Given the description of an element on the screen output the (x, y) to click on. 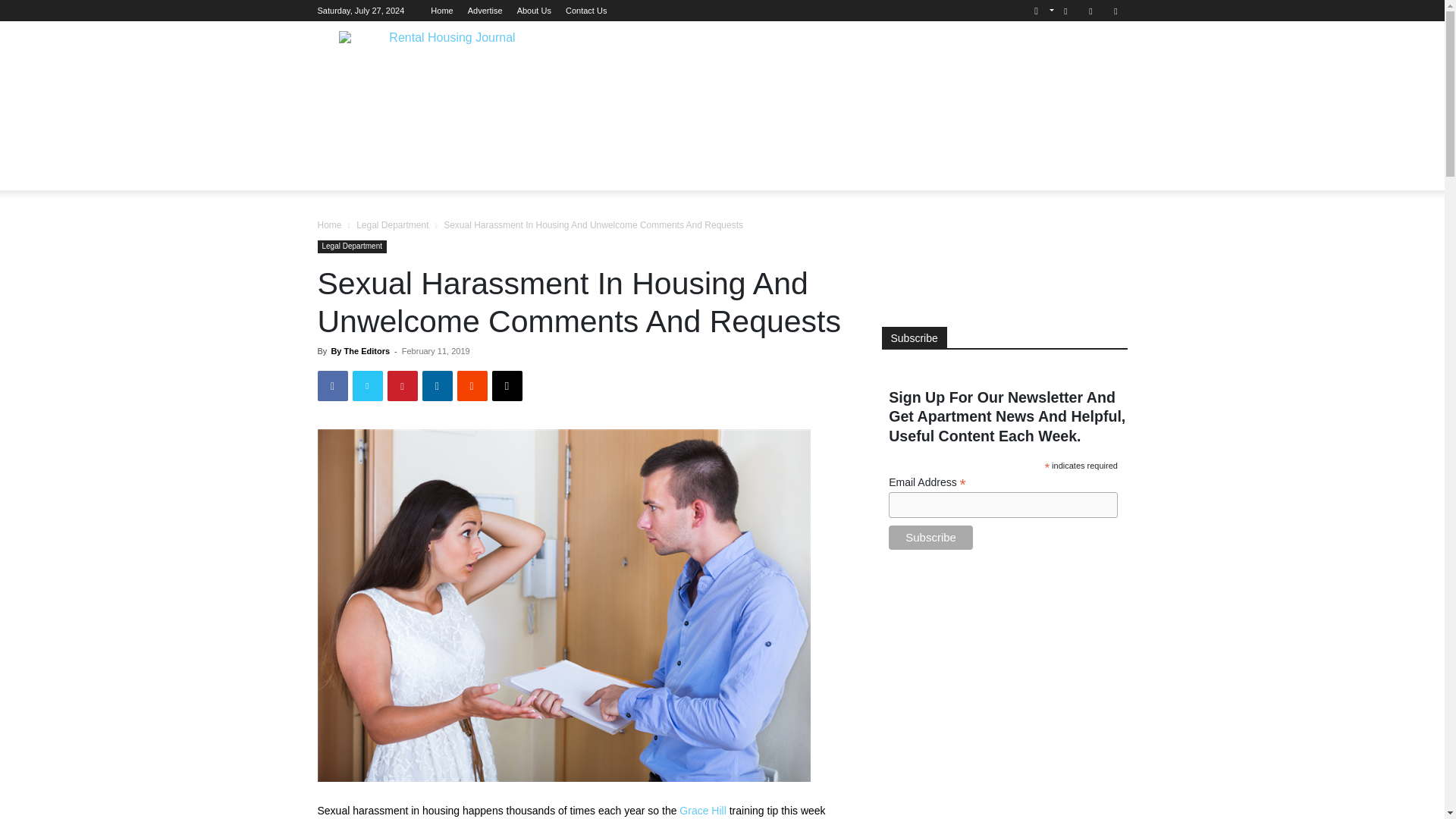
Search (1085, 64)
Subscribe (930, 537)
ASK LANDLORD HANK (786, 135)
ReddIt (471, 386)
Facebook (332, 386)
Twitter (1114, 10)
Email (506, 386)
LEGAL (345, 135)
Linkedin (1090, 10)
Advertise (484, 10)
PUBLICATIONS (906, 135)
View all posts in Legal Department (392, 225)
Facebook (1065, 10)
Home (441, 10)
About Us (533, 10)
